Given the description of an element on the screen output the (x, y) to click on. 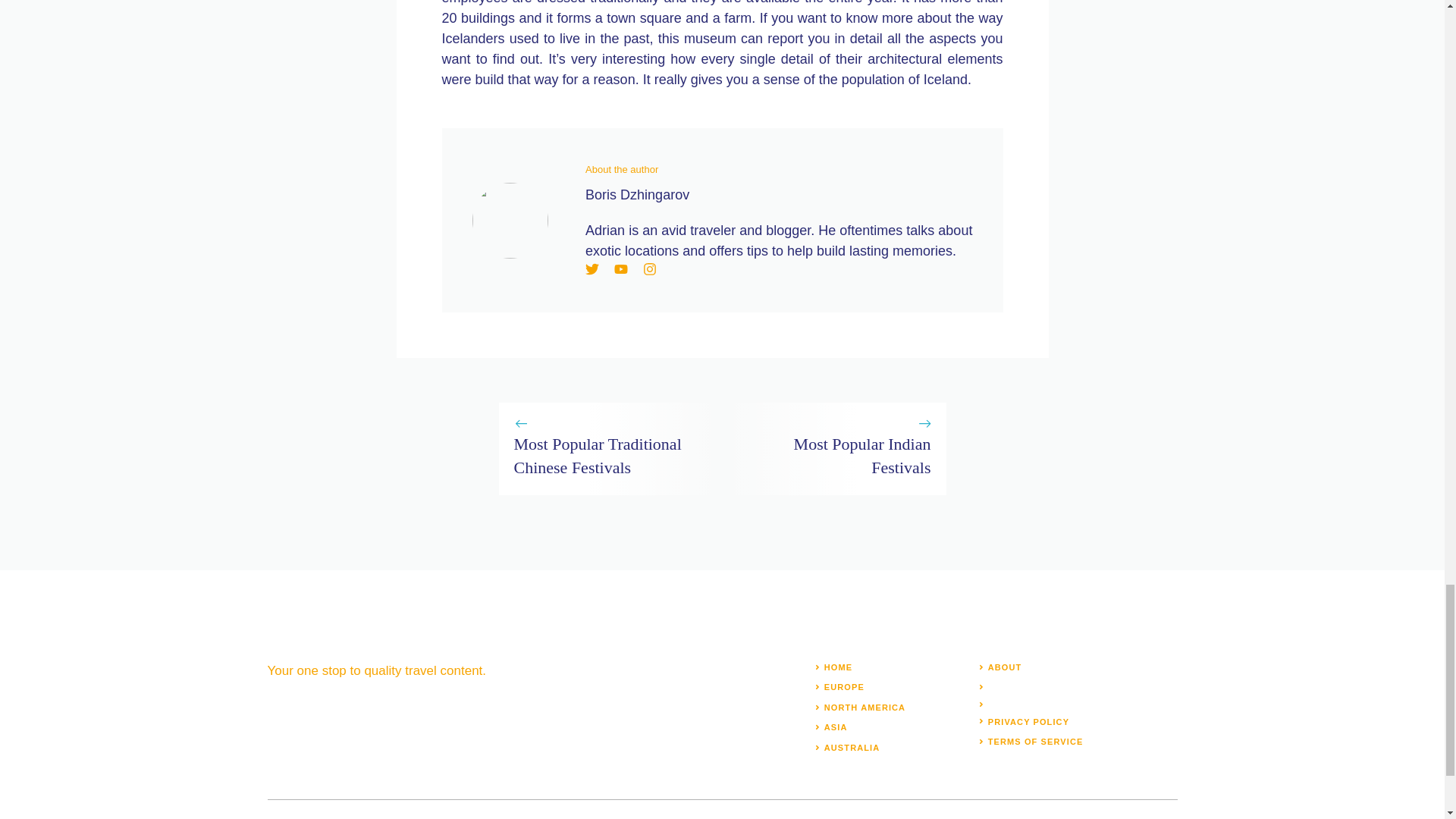
Most Popular Indian Festivals (862, 455)
EUROPE (844, 686)
ABOUT (1005, 666)
HOME (837, 666)
TERMS OF SERVICE (1035, 741)
Most Popular Traditional Chinese Festivals (597, 455)
NORTH AMERICA (864, 706)
ASIA (835, 727)
PRIVACY POLICY (1028, 721)
AUSTRALIA (851, 747)
